Given the description of an element on the screen output the (x, y) to click on. 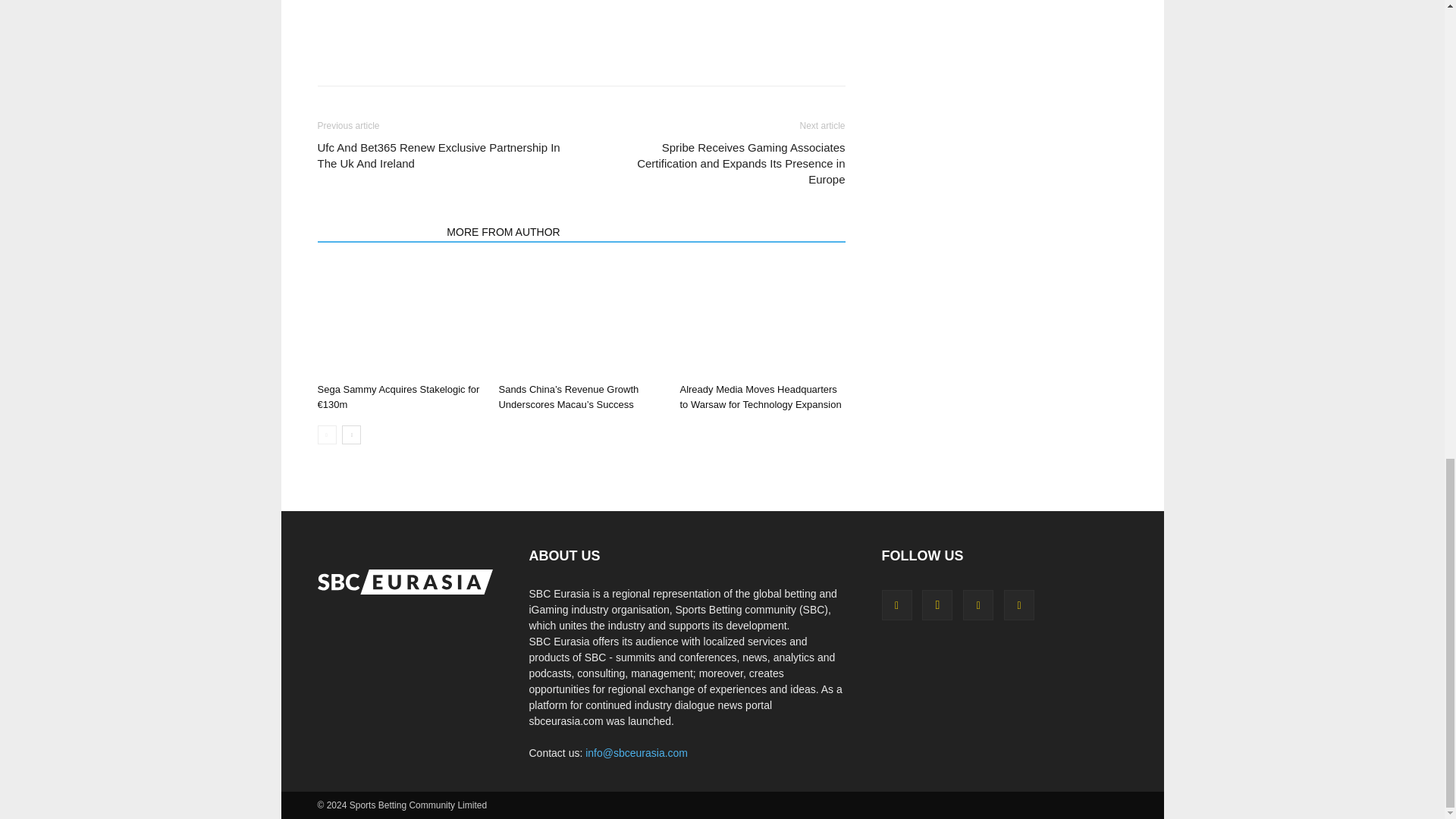
bottomFacebookLike (430, 20)
